Given the description of an element on the screen output the (x, y) to click on. 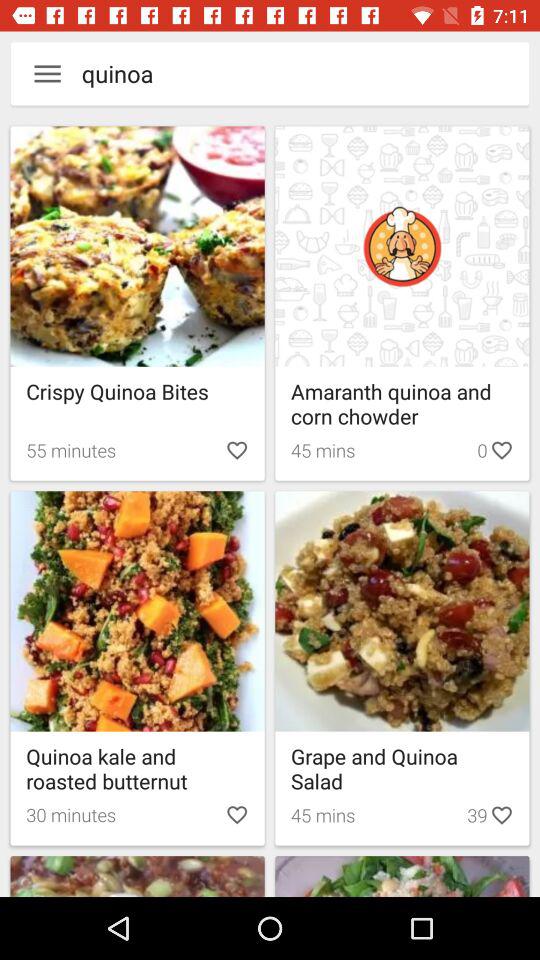
click on the third image on the right from the top (401, 876)
